Given the description of an element on the screen output the (x, y) to click on. 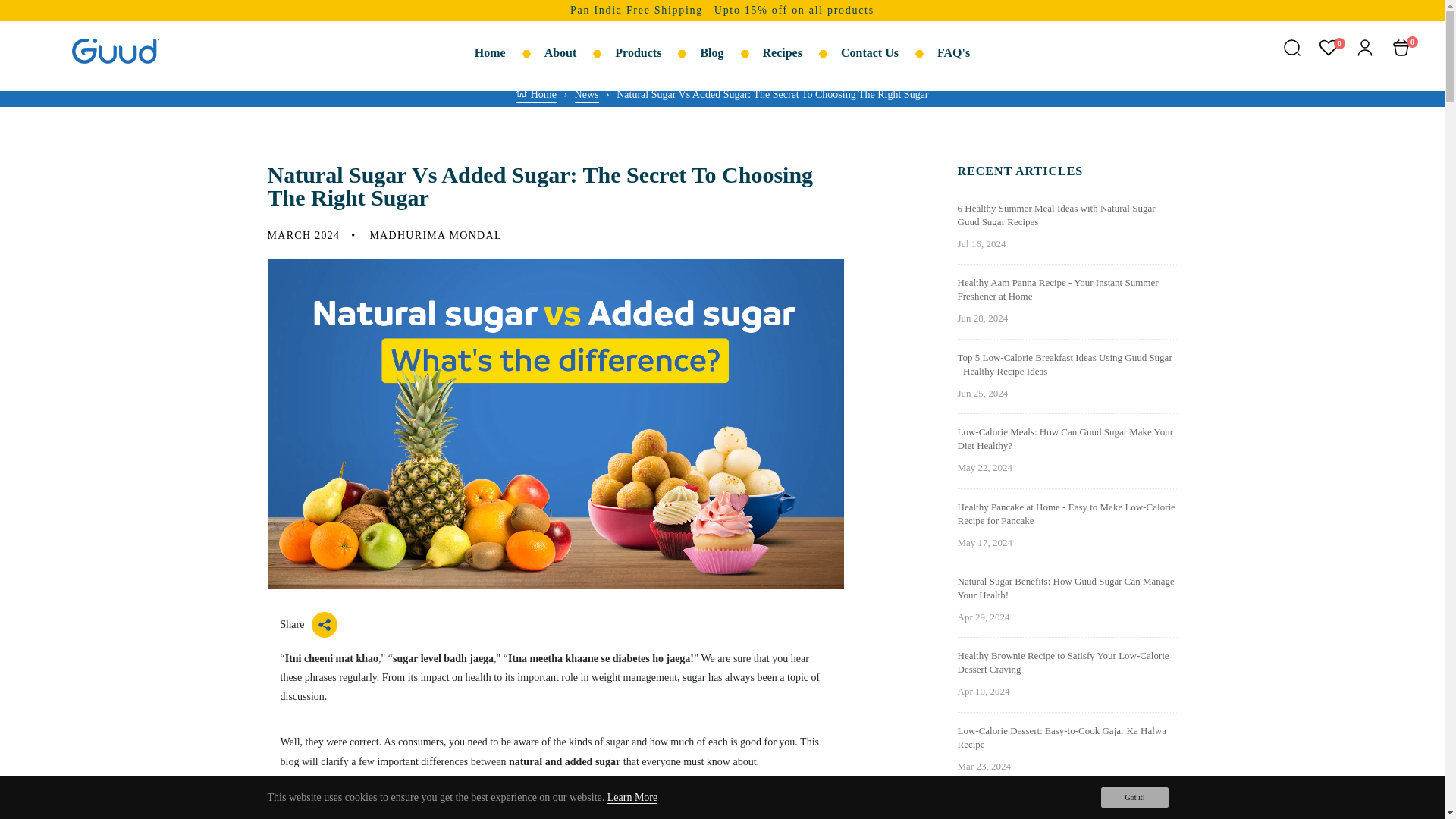
Blog (730, 53)
About (579, 53)
Contact Us (889, 53)
Home (535, 94)
Products (657, 53)
Recipes (801, 53)
Home (509, 53)
Skip to content (45, 16)
